Given the description of an element on the screen output the (x, y) to click on. 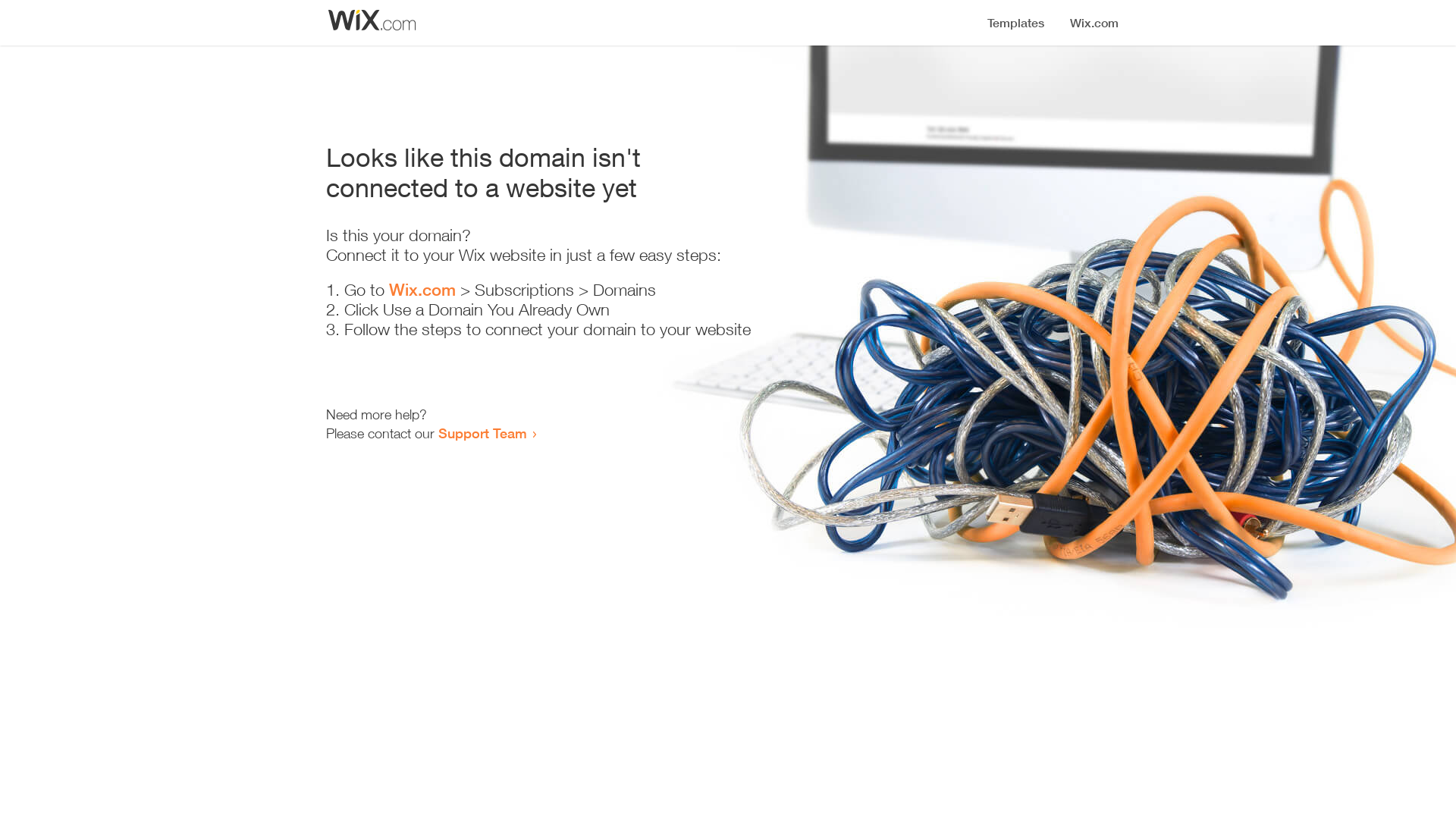
Support Team Element type: text (482, 432)
Wix.com Element type: text (422, 289)
